Given the description of an element on the screen output the (x, y) to click on. 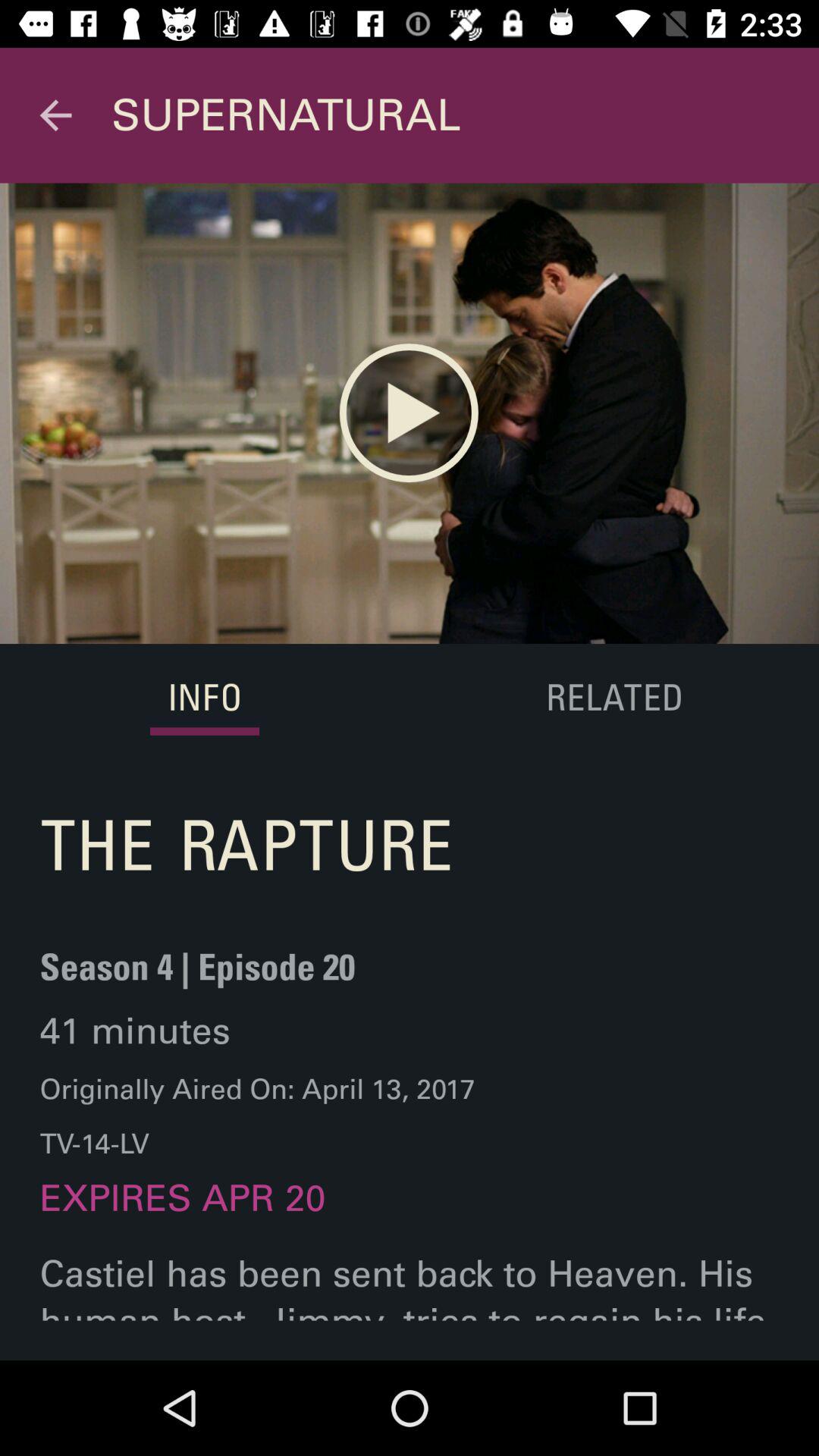
select related on the right (613, 699)
